Given the description of an element on the screen output the (x, y) to click on. 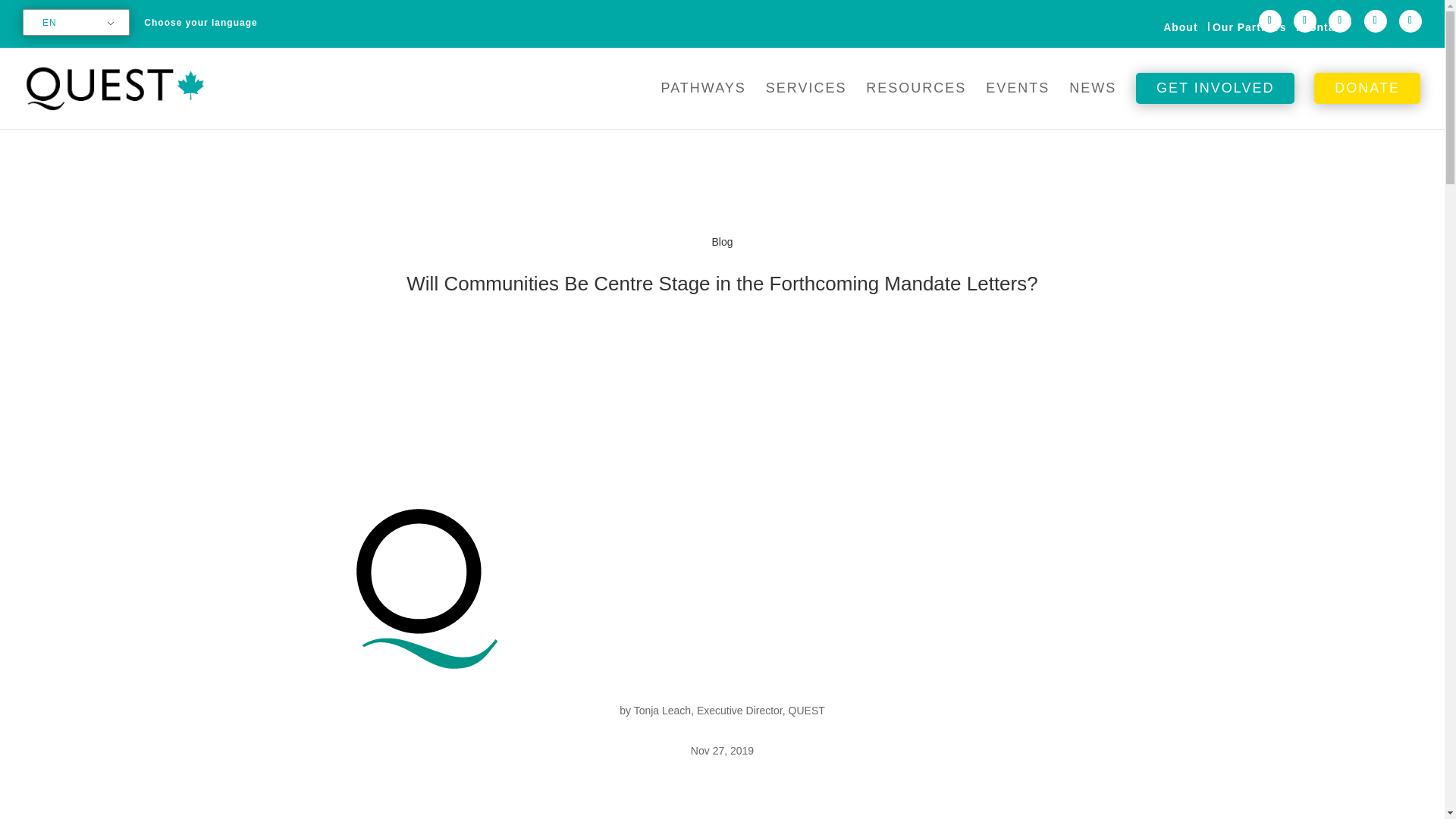
GET INVOLVED (1214, 100)
Contact (1323, 28)
PATHWAYS (703, 99)
EVENTS (1017, 99)
Posts by Tonja Leach, Executive Director, QUEST (729, 710)
EN (73, 22)
Tonja Leach, Executive Director, QUEST (729, 710)
NEWS (1092, 99)
Our Partners (1249, 28)
DONATE (1367, 100)
About (1179, 28)
SERVICES (806, 99)
English (73, 22)
RESOURCES (916, 99)
